Given the description of an element on the screen output the (x, y) to click on. 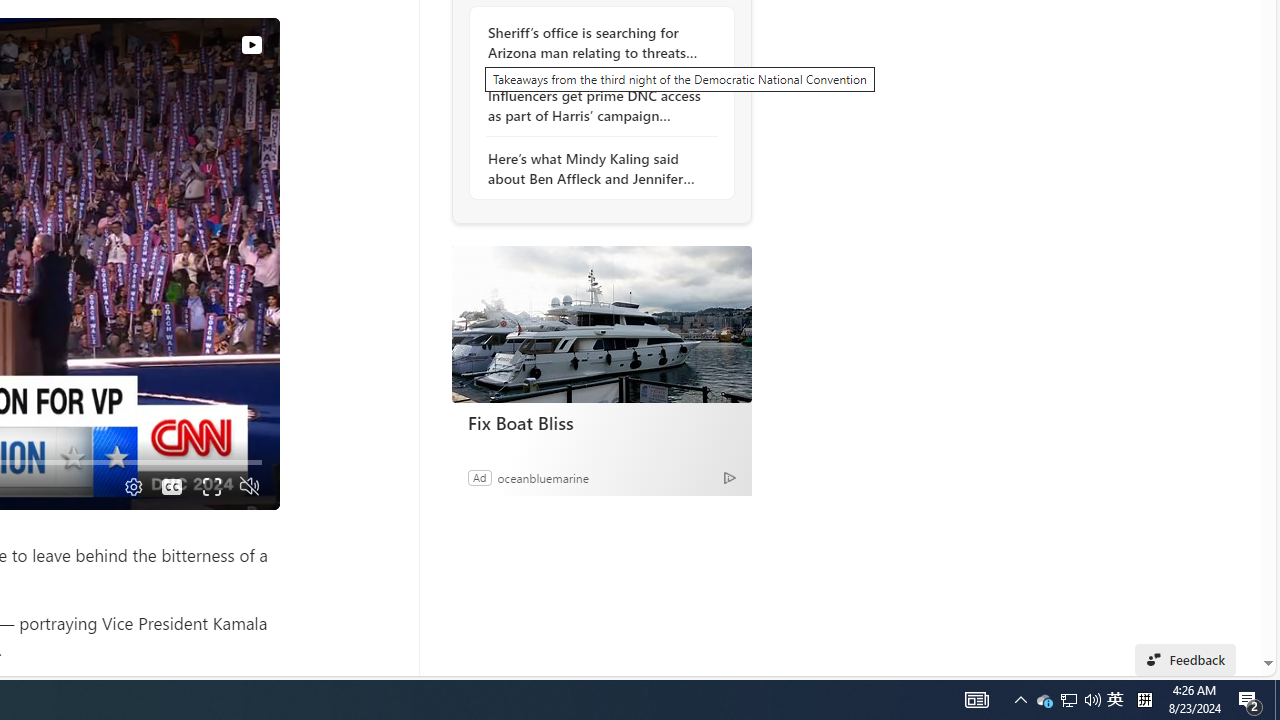
Quality Settings (131, 486)
